Given the description of an element on the screen output the (x, y) to click on. 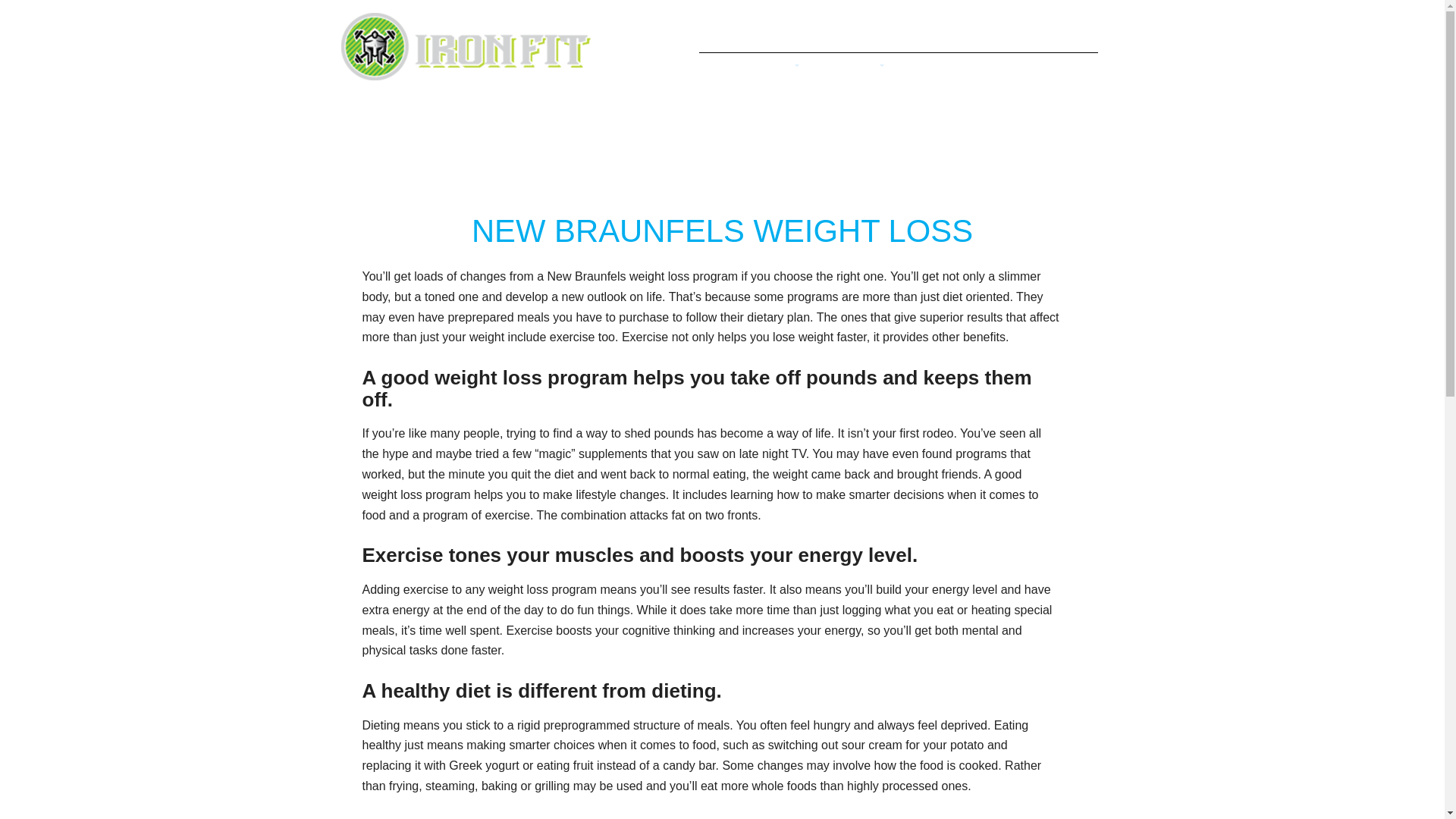
HOME (721, 69)
TESTIMONIALS (935, 69)
PROGRAMS (844, 69)
IRON FIT OLD (469, 75)
CONTACT (1063, 69)
ABOUT (773, 69)
BLOG (1007, 69)
